Given the description of an element on the screen output the (x, y) to click on. 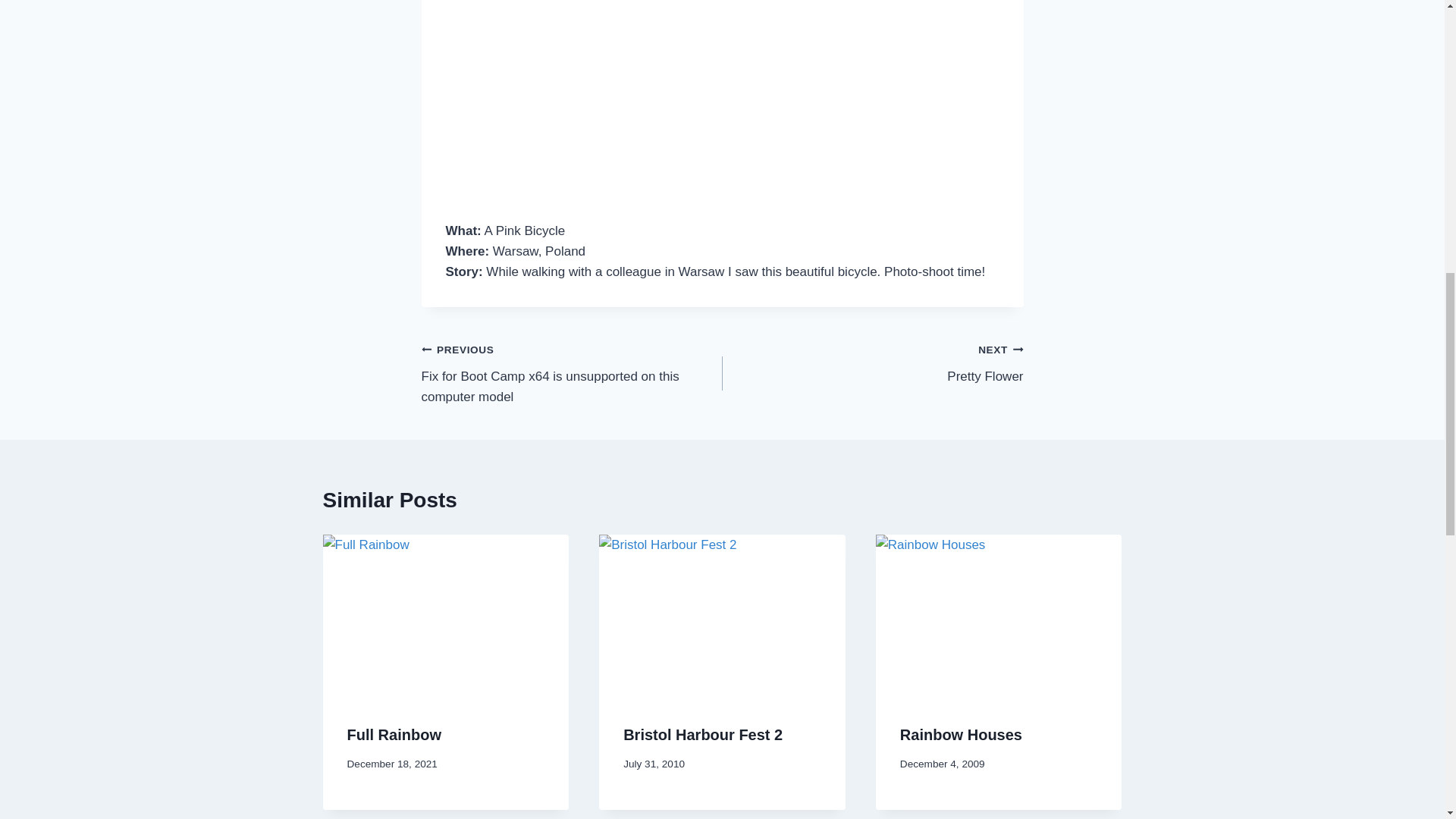
Bristol Harbour Fest 2 6 (721, 616)
Pink Bicycle 4 (721, 98)
Full Rainbow 5 (446, 616)
Rainbow Houses (872, 362)
Full Rainbow (960, 734)
Rainbow Houses 7 (394, 734)
Bristol Harbour Fest 2 (999, 616)
